Given the description of an element on the screen output the (x, y) to click on. 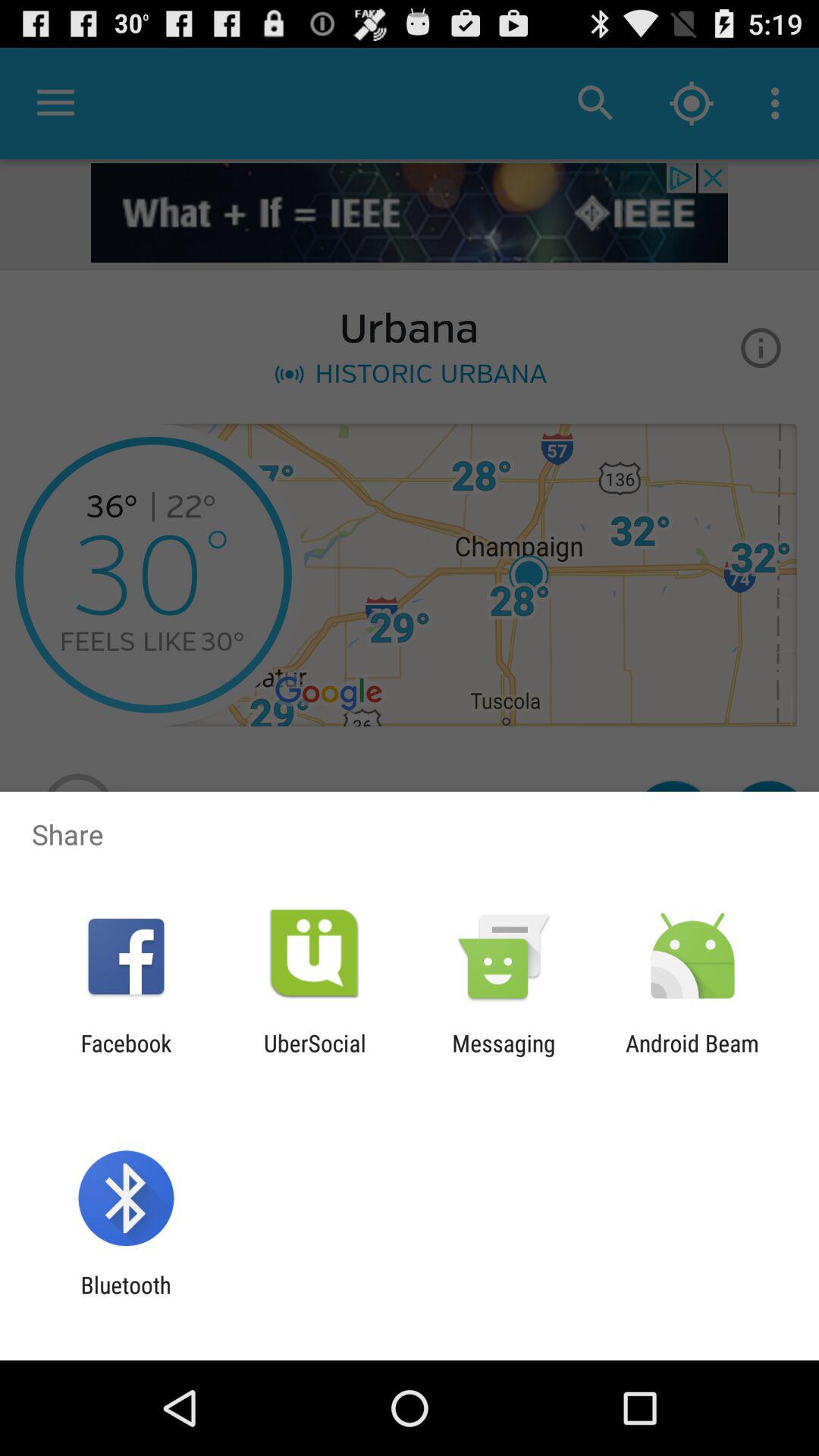
press the messaging app (503, 1056)
